Given the description of an element on the screen output the (x, y) to click on. 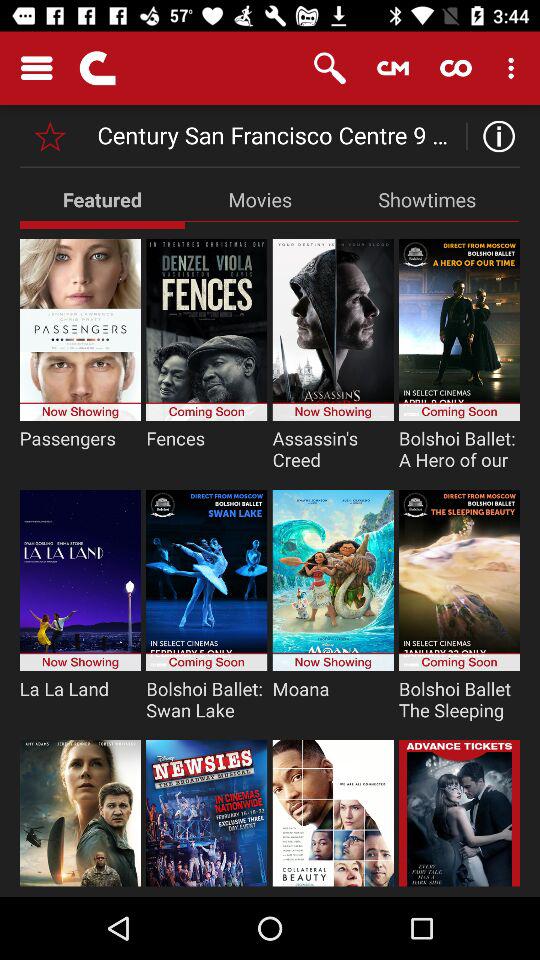
flip until movies (260, 199)
